Given the description of an element on the screen output the (x, y) to click on. 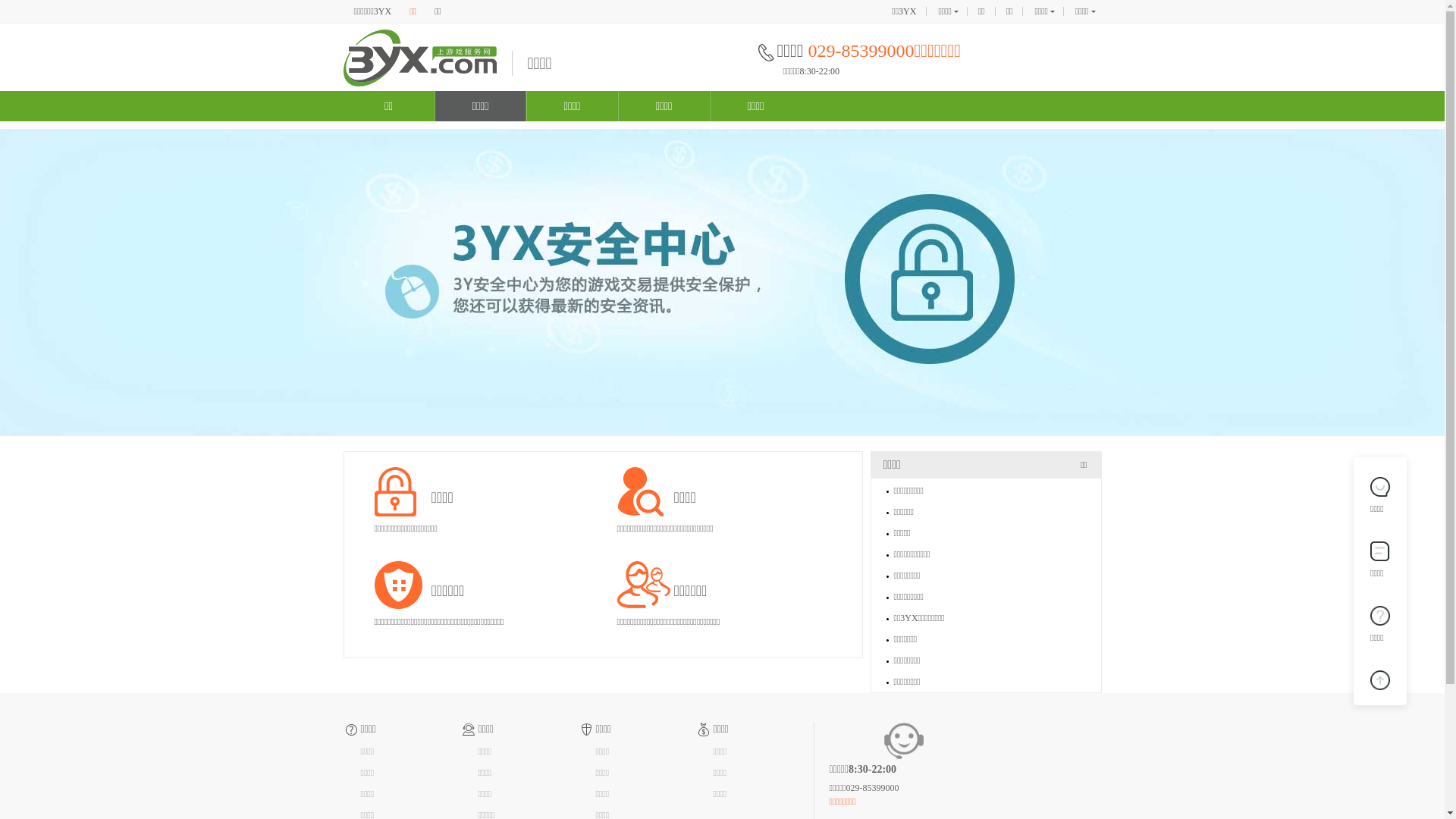
0 Element type: text (1379, 677)
